Given the description of an element on the screen output the (x, y) to click on. 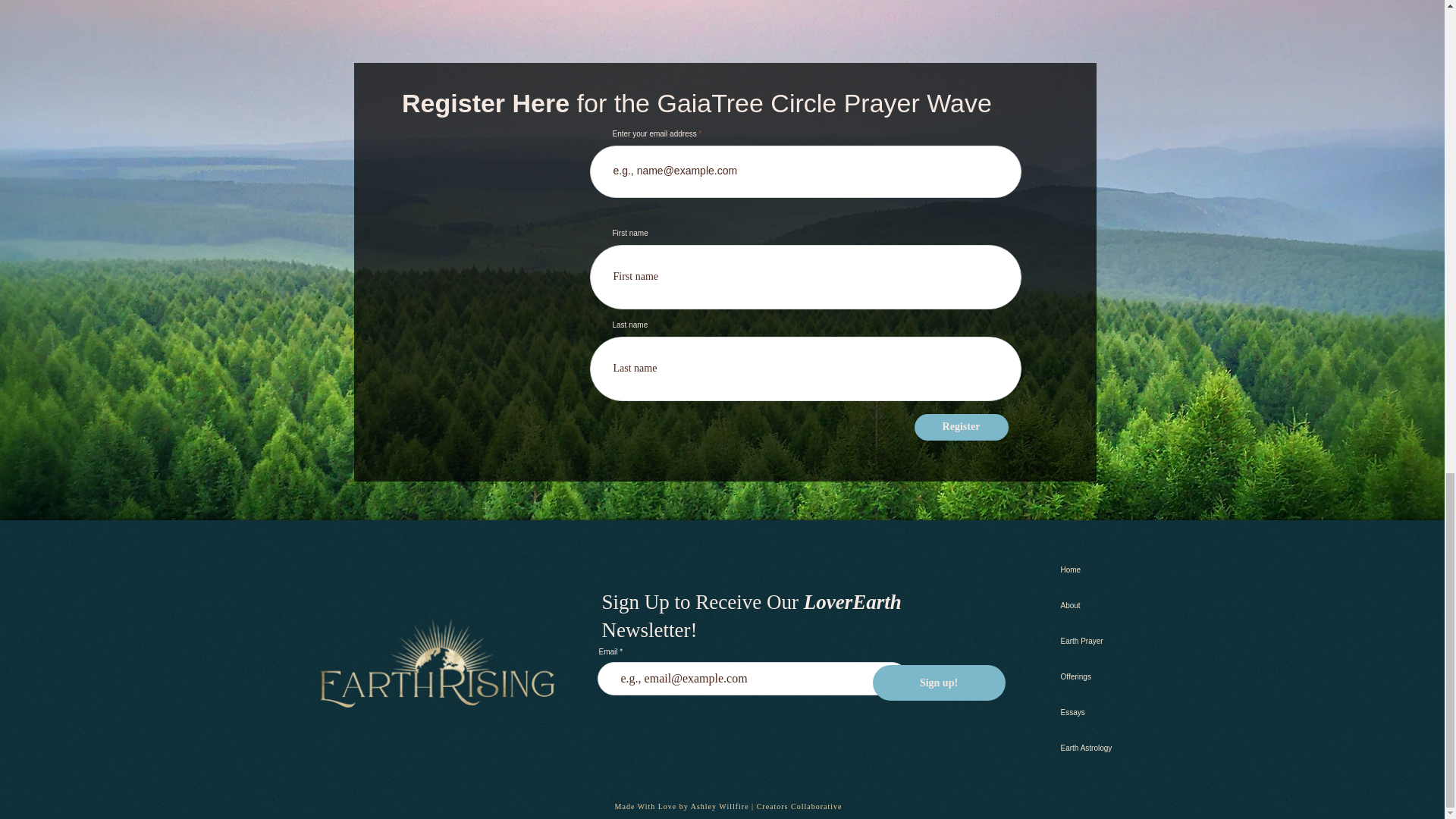
Home (1106, 570)
Register (961, 427)
Earth Astrology (1106, 747)
About (1106, 605)
Essays (1106, 712)
Sign up! (938, 683)
Earth Prayer (1106, 641)
